Given the description of an element on the screen output the (x, y) to click on. 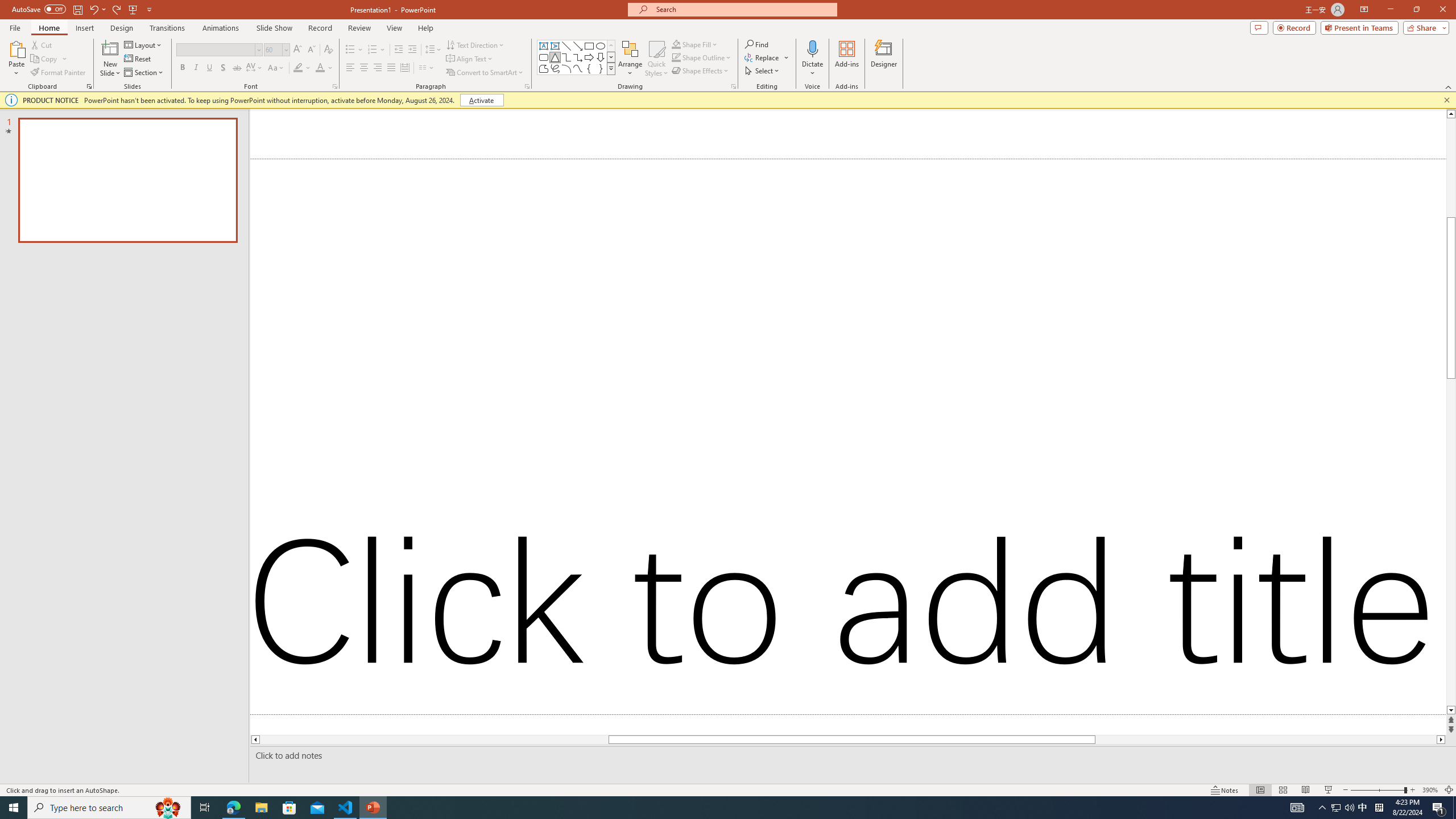
Shape Fill Orange, Accent 2 (675, 44)
Format Painter (58, 72)
Text Highlight Color (302, 67)
Italic (195, 67)
Activate (481, 100)
Line Spacing (433, 49)
Underline (209, 67)
Left Brace (589, 68)
